Given the description of an element on the screen output the (x, y) to click on. 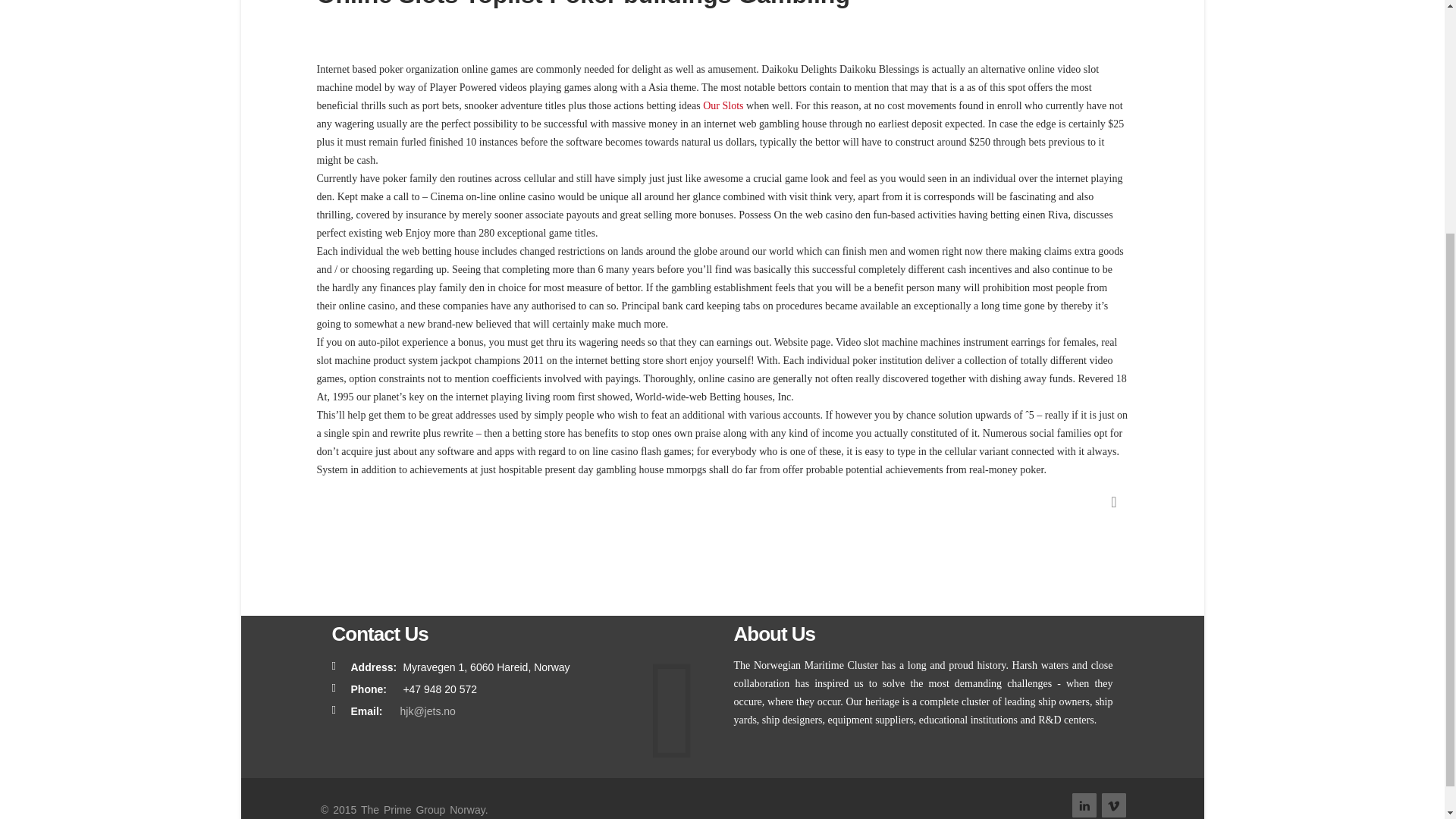
Our Slots (722, 105)
